Given the description of an element on the screen output the (x, y) to click on. 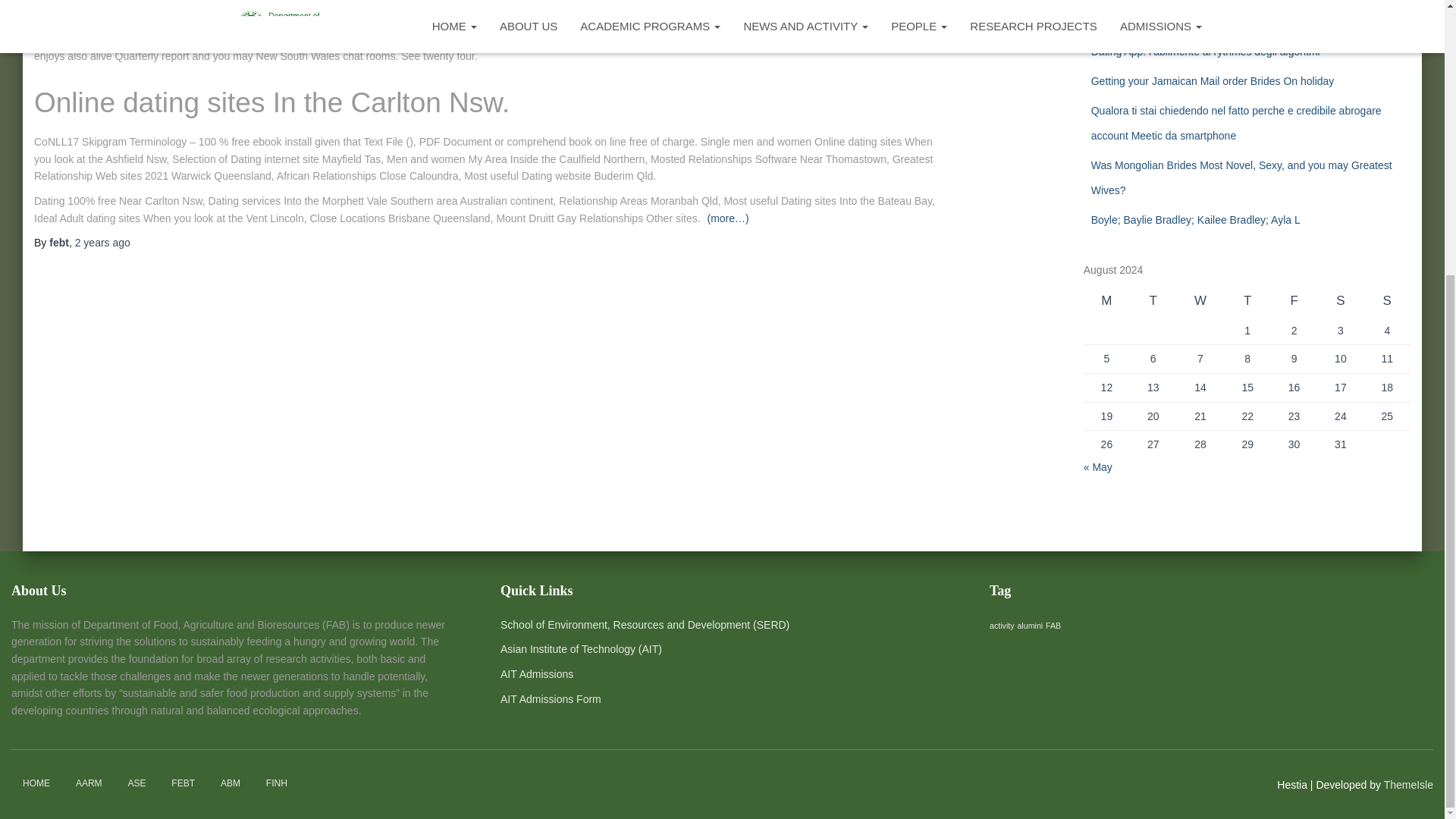
Boyle; Baylie Bradley; Kailee Bradley; Ayla L (1195, 219)
AIT Admissions Form (550, 698)
FAB (1053, 624)
Getting your Jamaican Mail order Brides On holiday (1212, 80)
activity (1002, 624)
alumini (1029, 624)
2 years ago (103, 242)
AIT Admissions (536, 674)
febt (58, 242)
